Given the description of an element on the screen output the (x, y) to click on. 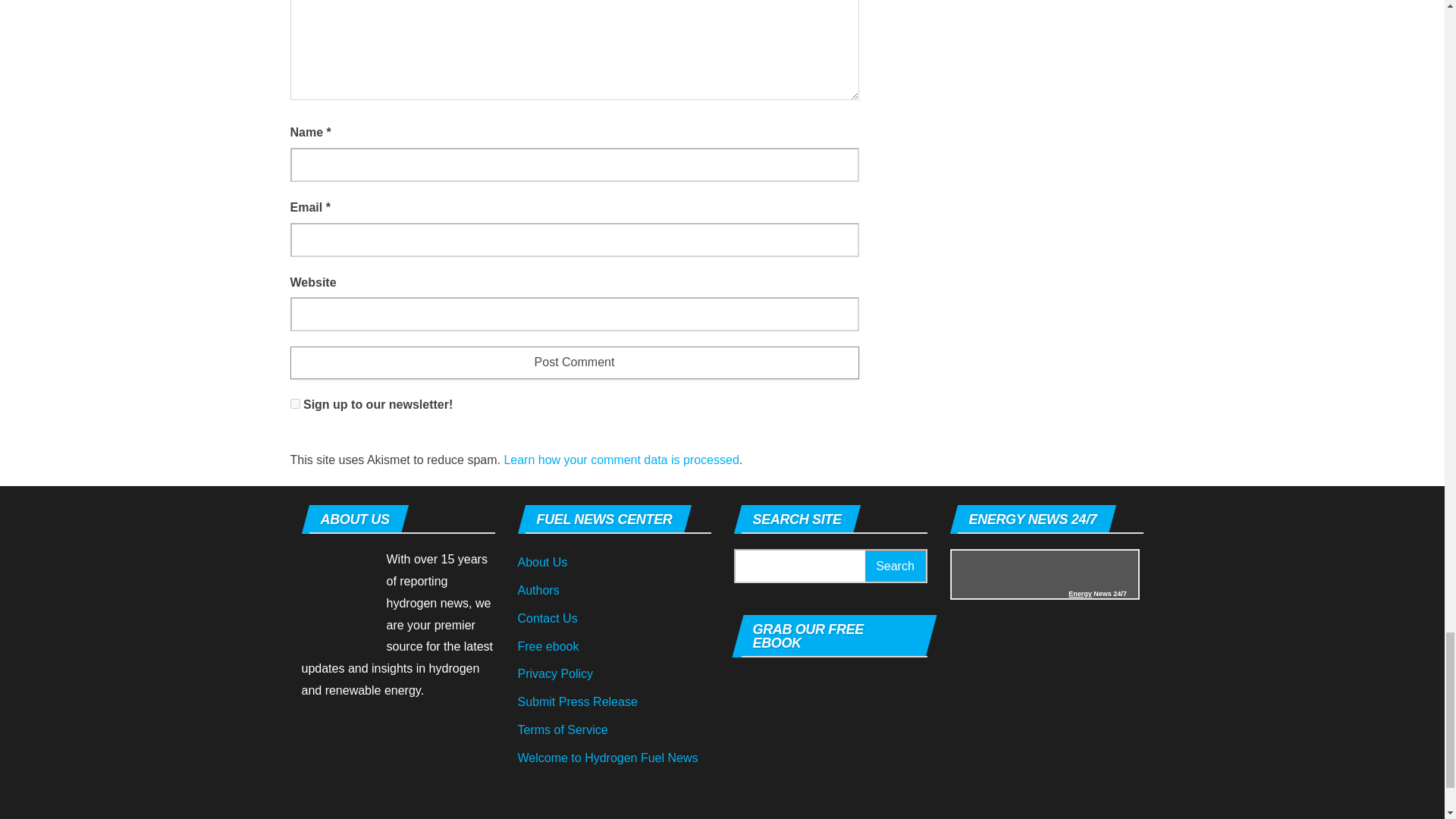
Search (894, 565)
1 (294, 403)
Post Comment (574, 362)
